Given the description of an element on the screen output the (x, y) to click on. 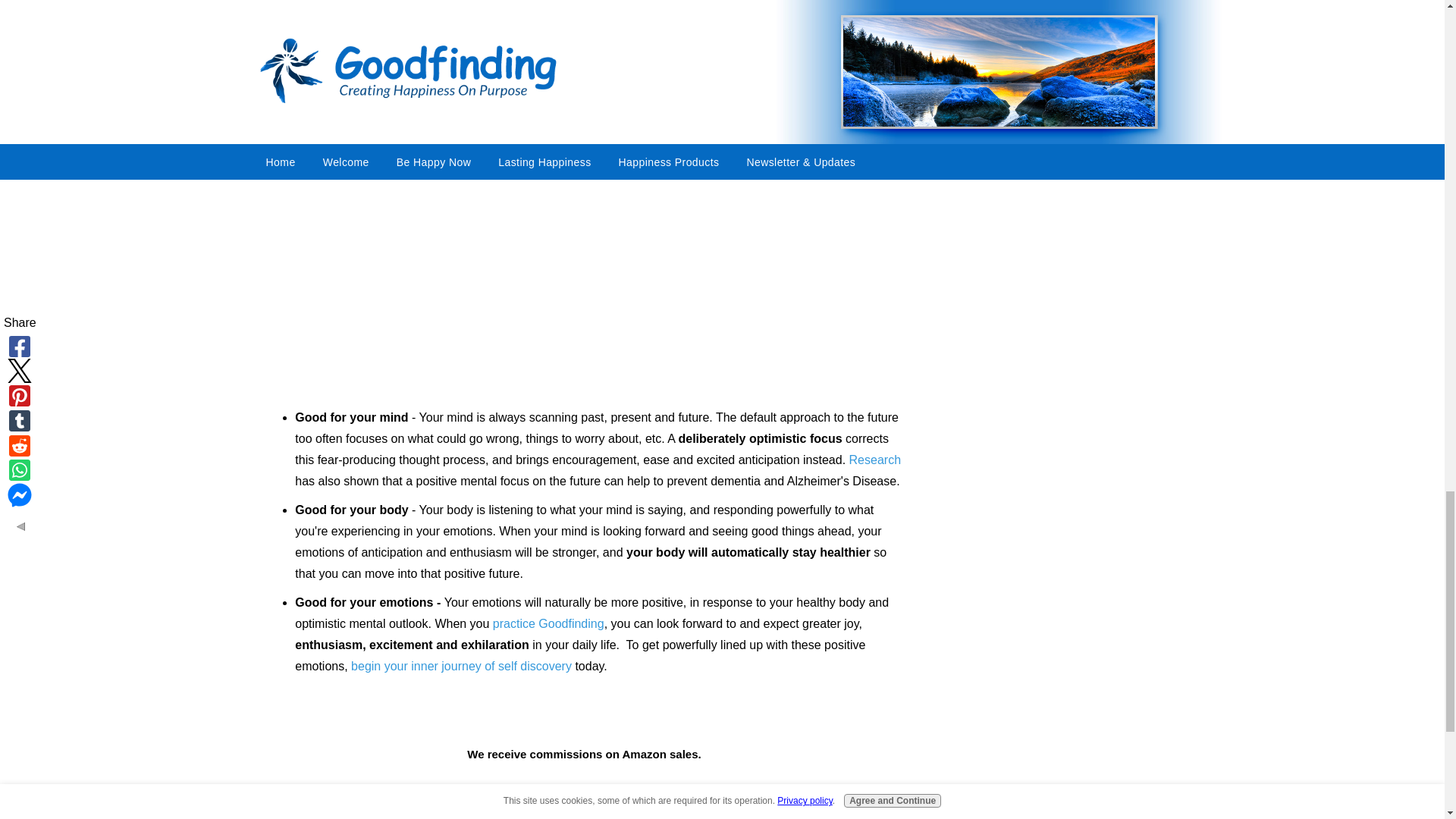
practice Goodfinding (548, 623)
Research (874, 459)
begin your inner journey of self discovery (461, 666)
